Given the description of an element on the screen output the (x, y) to click on. 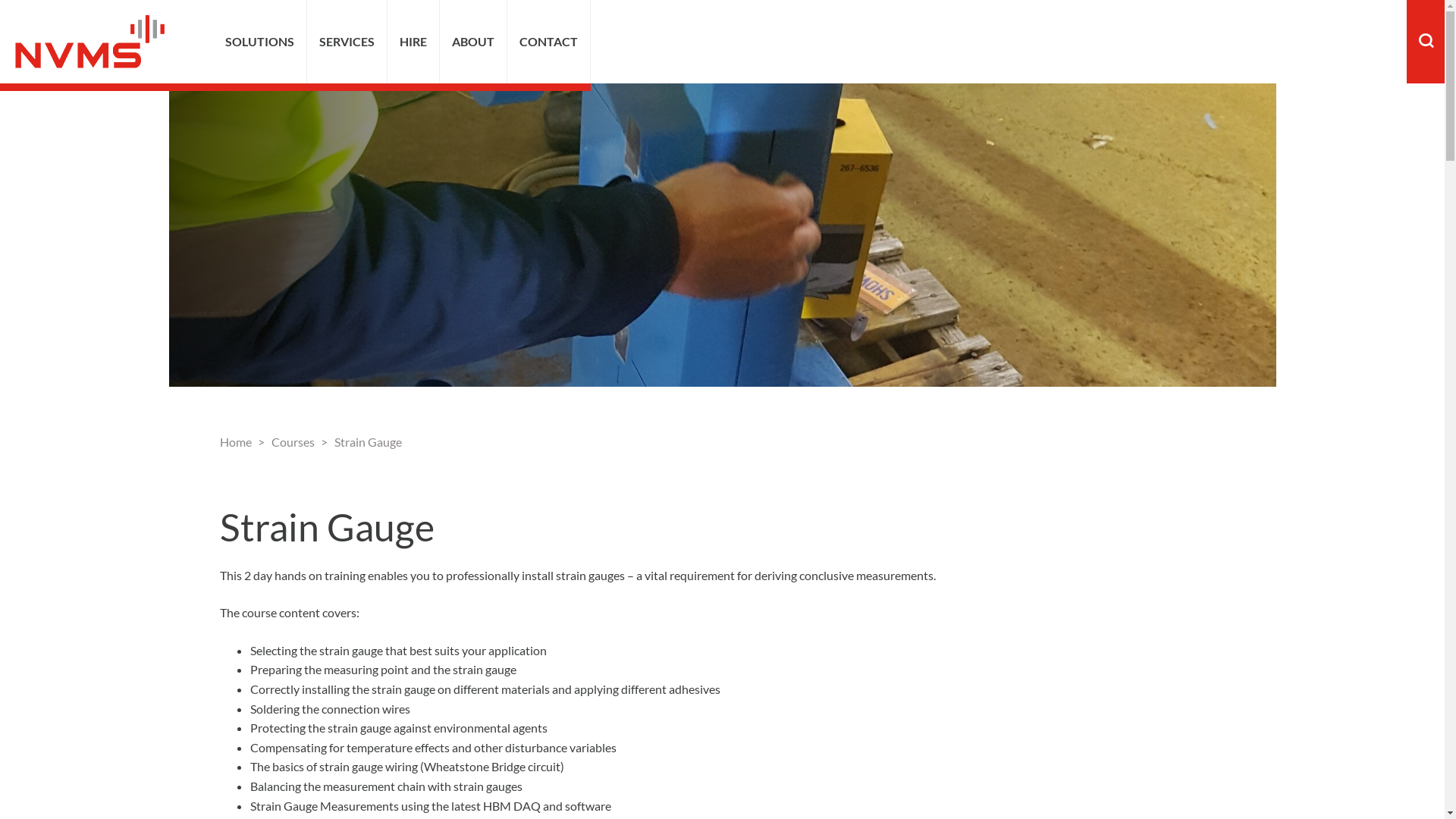
SOLUTIONS Element type: text (259, 41)
SERVICES Element type: text (346, 41)
Search Element type: text (1388, 41)
HIRE Element type: text (413, 41)
ABOUT Element type: text (472, 41)
CONTACT Element type: text (548, 41)
Courses Element type: text (292, 441)
Logo Element type: hover (89, 41)
Home Element type: text (235, 441)
